Given the description of an element on the screen output the (x, y) to click on. 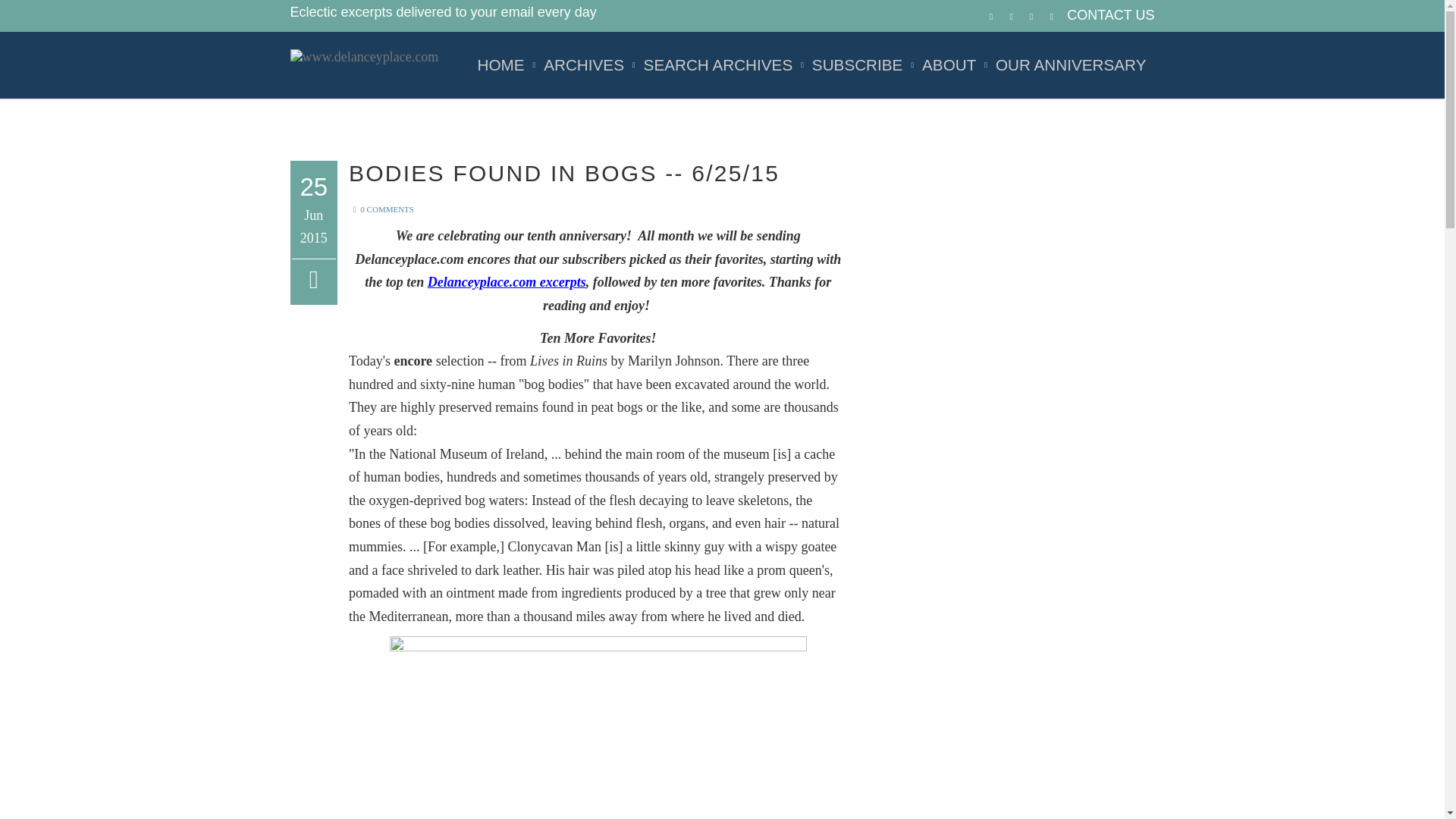
0 COMMENTS (381, 208)
SEARCH ARCHIVES (718, 64)
HOME (500, 64)
Delanceyplace.com excerpts (507, 281)
ABOUT (949, 64)
OUR ANNIVERSARY (1070, 64)
SUBSCRIBE (857, 64)
ARCHIVES (583, 64)
CONTACT US (1110, 14)
